Given the description of an element on the screen output the (x, y) to click on. 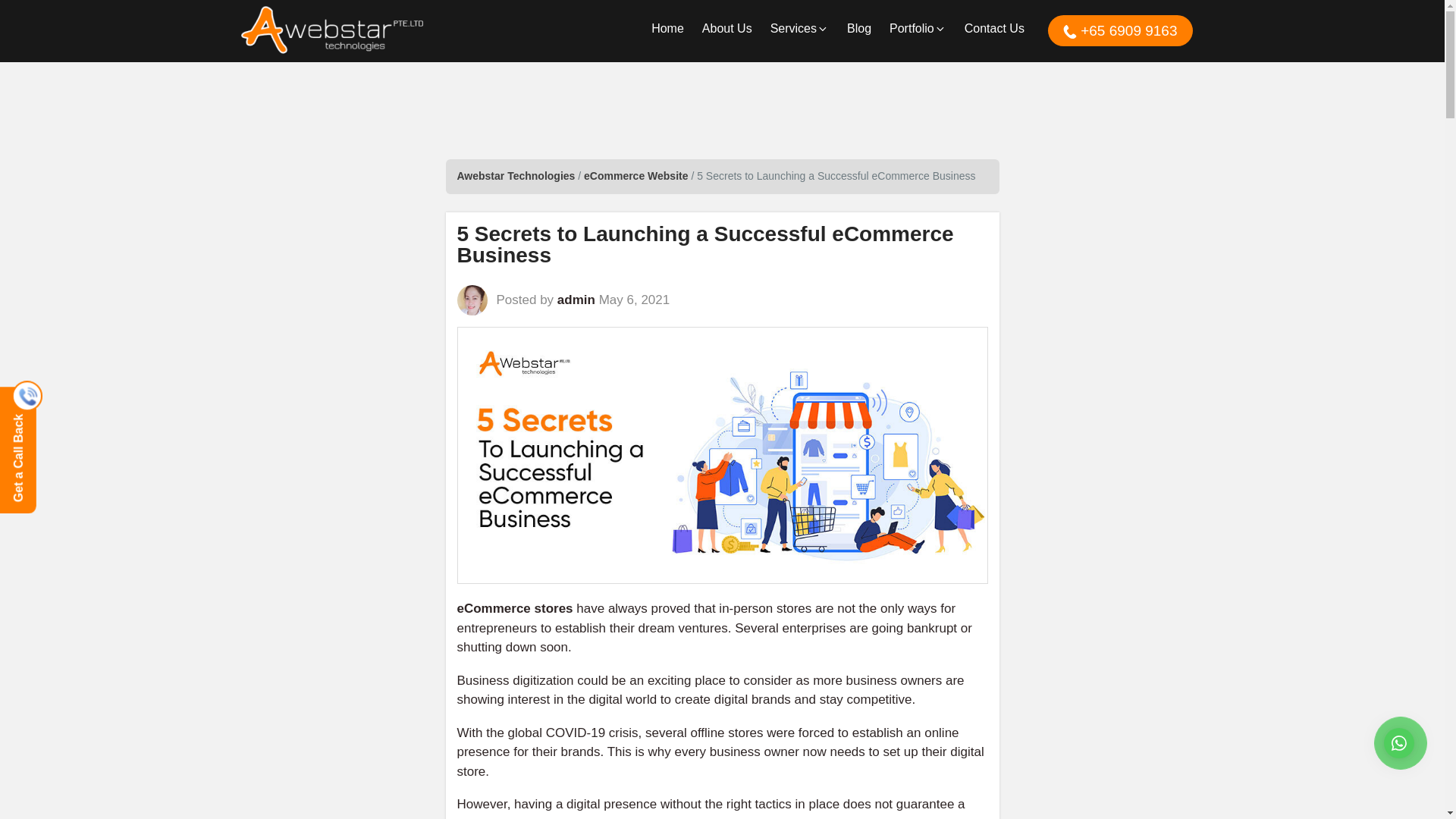
About Us (726, 29)
Home (667, 29)
Services (799, 29)
